Given the description of an element on the screen output the (x, y) to click on. 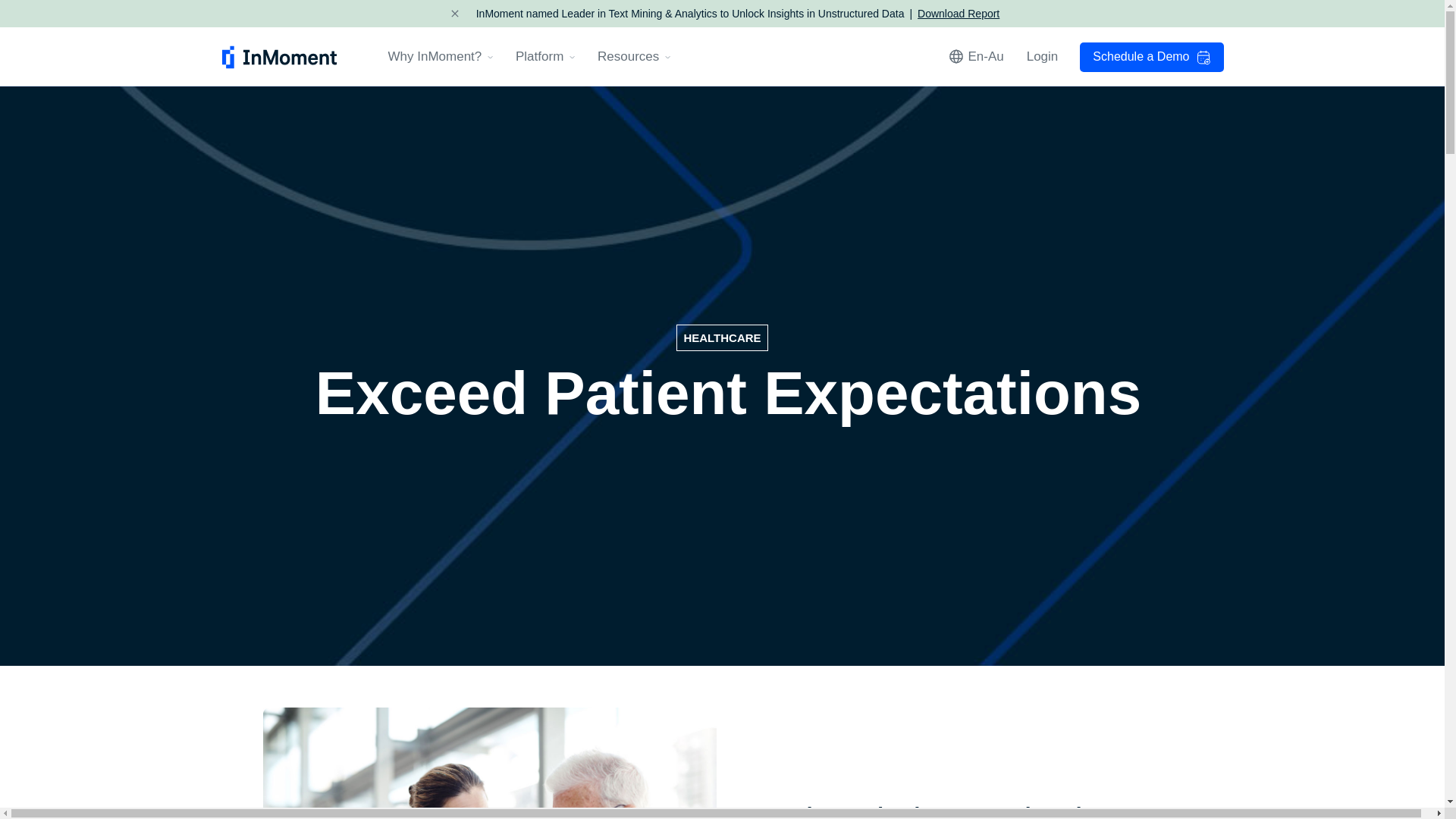
Why InMoment? (440, 56)
Download Report (957, 13)
